Given the description of an element on the screen output the (x, y) to click on. 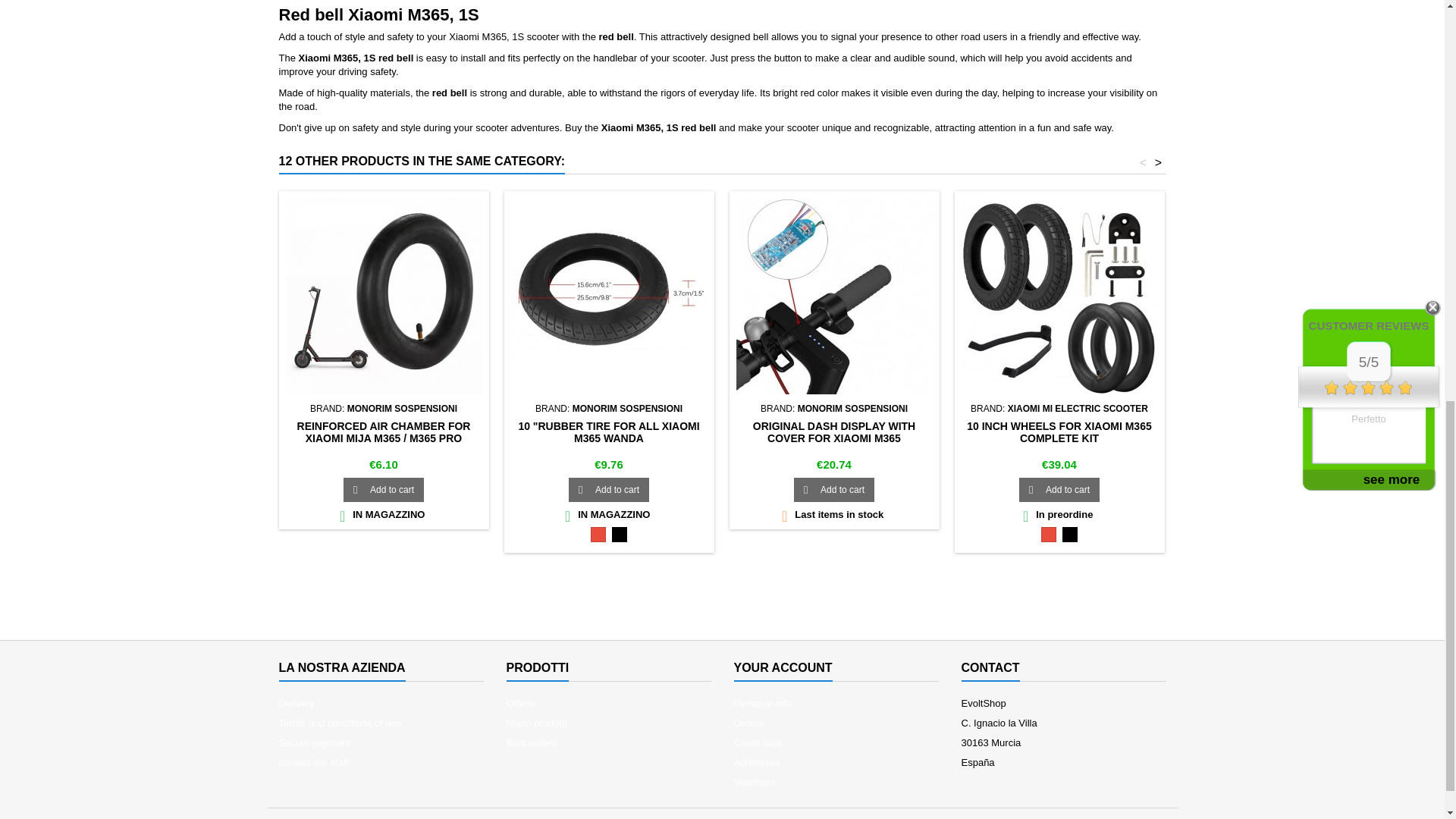
Nero (619, 534)
Rosso (598, 534)
